Given the description of an element on the screen output the (x, y) to click on. 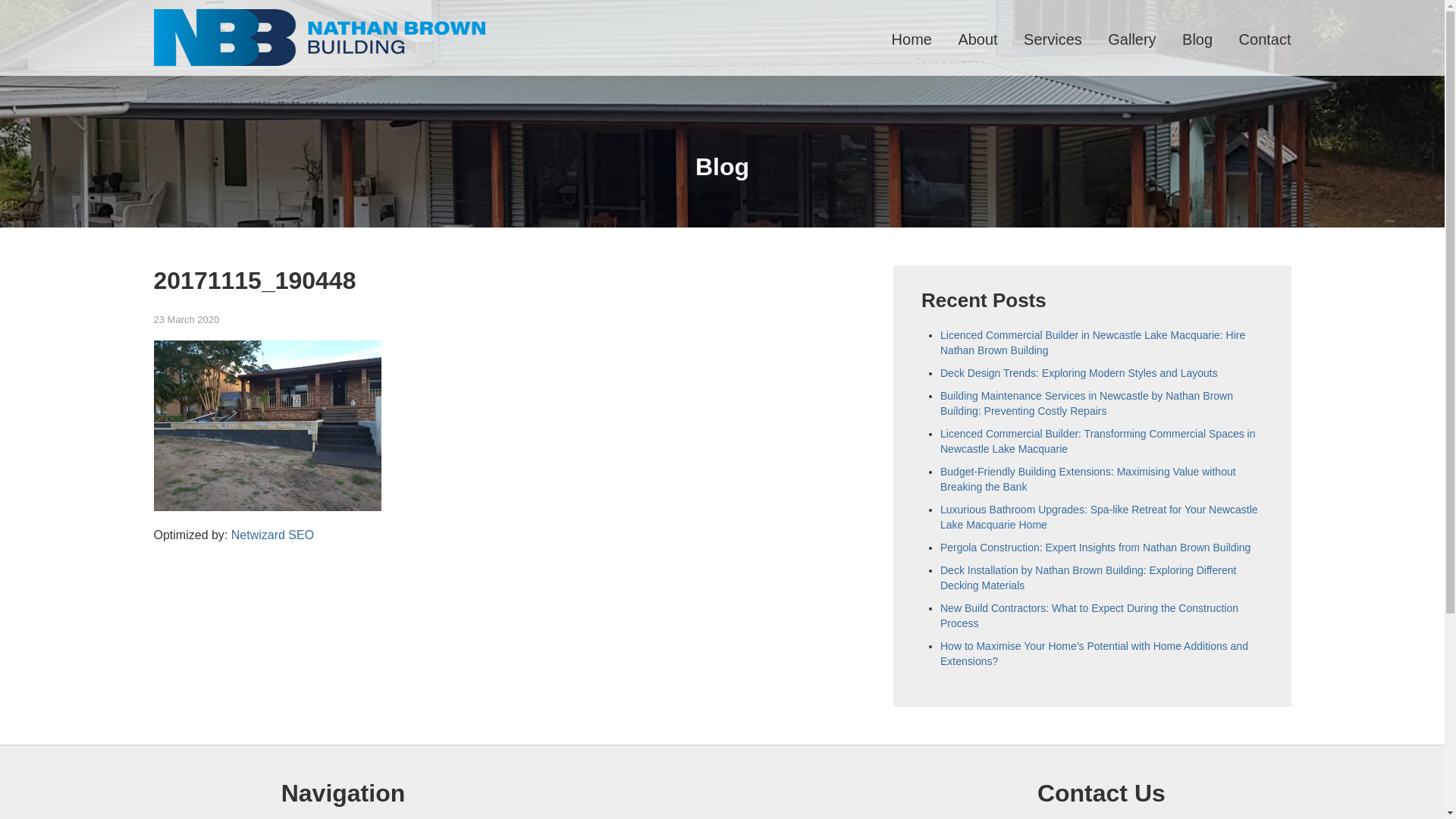
Blog Element type: text (1197, 39)
Services Element type: text (1052, 39)
Gallery Element type: text (1131, 39)
About Element type: text (977, 39)
Home Element type: text (911, 39)
Contact Element type: text (1265, 39)
Deck Design Trends: Exploring Modern Styles and Layouts Element type: text (1078, 373)
Netwizard SEO Element type: text (272, 534)
